Given the description of an element on the screen output the (x, y) to click on. 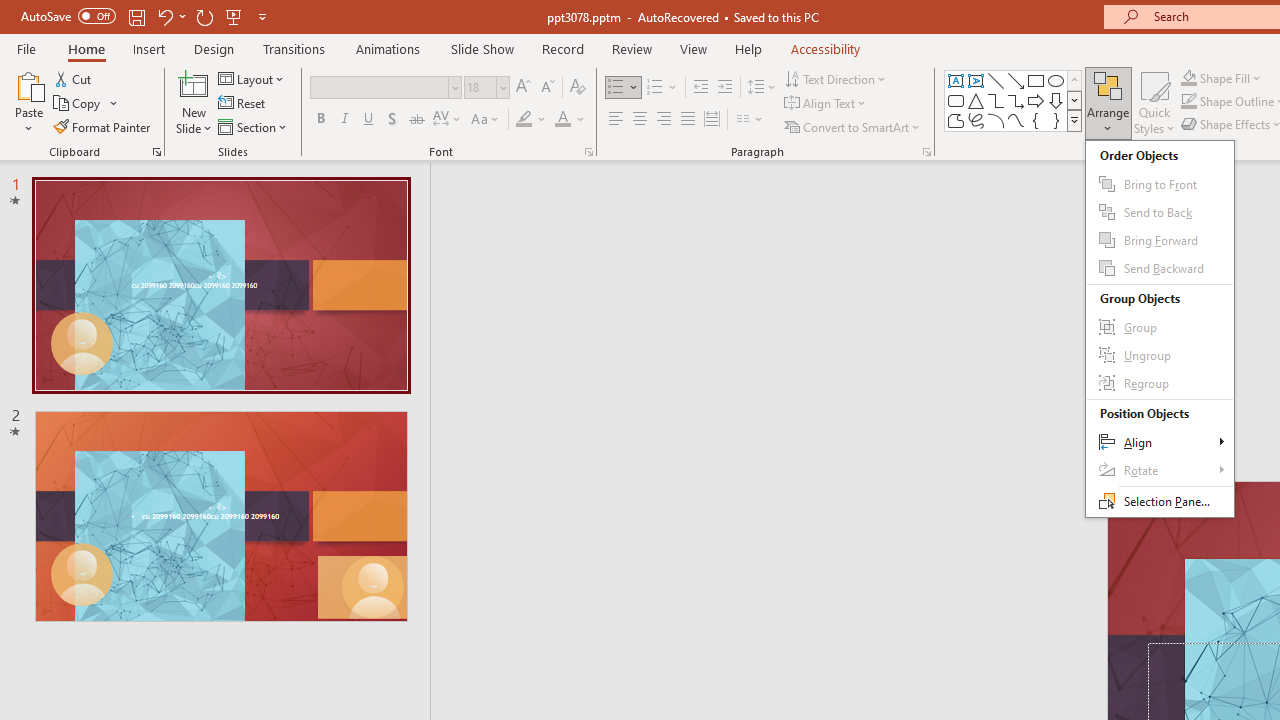
Shape Fill Dark Green, Accent 2 (1188, 78)
Clear Formatting (577, 87)
Text Highlight Color (531, 119)
Center (639, 119)
Paragraph... (926, 151)
Bold (320, 119)
Connector: Elbow Arrow (1016, 100)
